Given the description of an element on the screen output the (x, y) to click on. 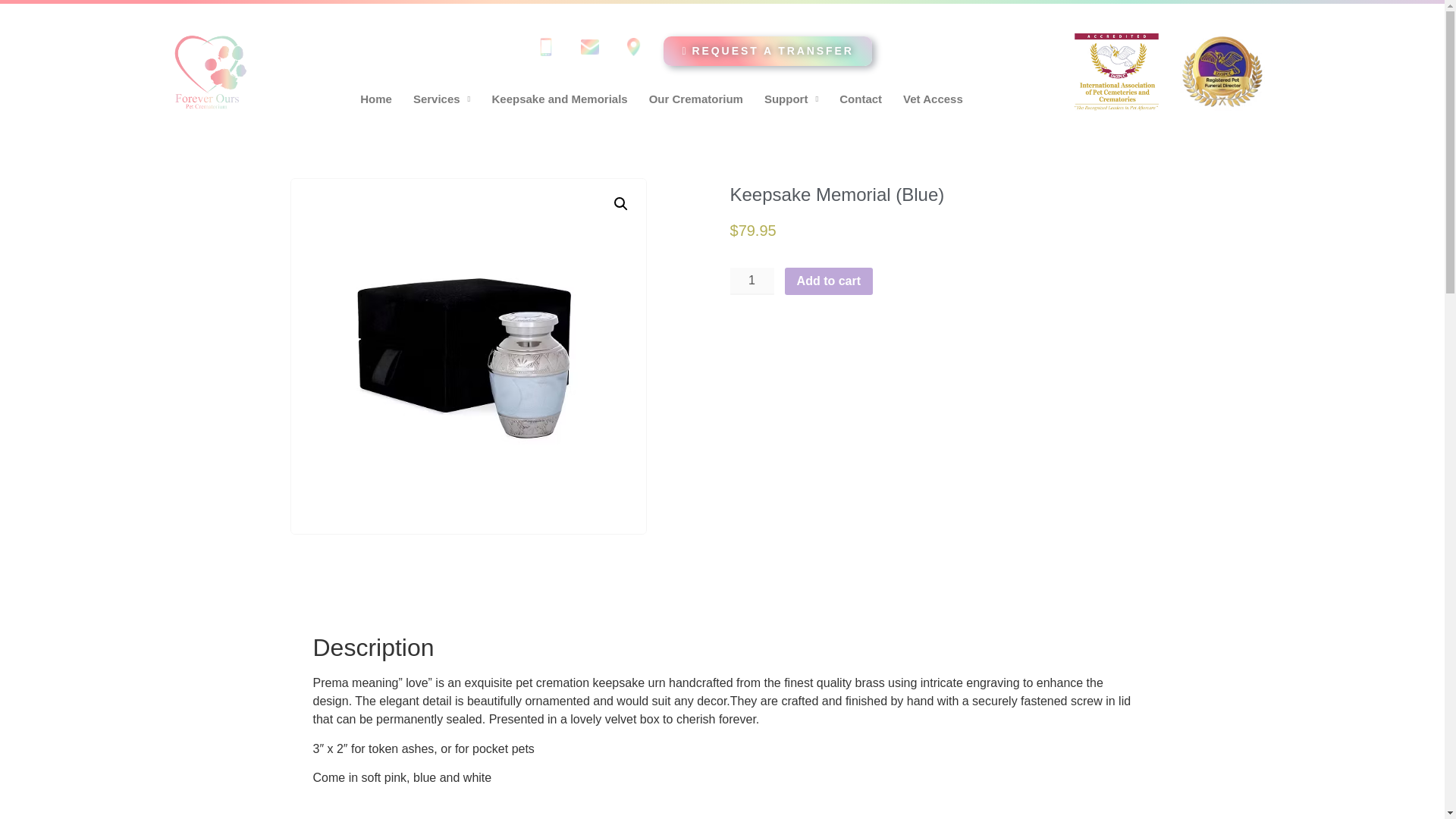
Keepsake and Memorials (558, 99)
Vet Access (933, 99)
REQUEST A TRANSFER (766, 51)
Home (376, 99)
Support (791, 99)
Contact (860, 99)
keepsake-urn (467, 356)
Our Crematorium (696, 99)
1 (751, 280)
Services (442, 99)
